Given the description of an element on the screen output the (x, y) to click on. 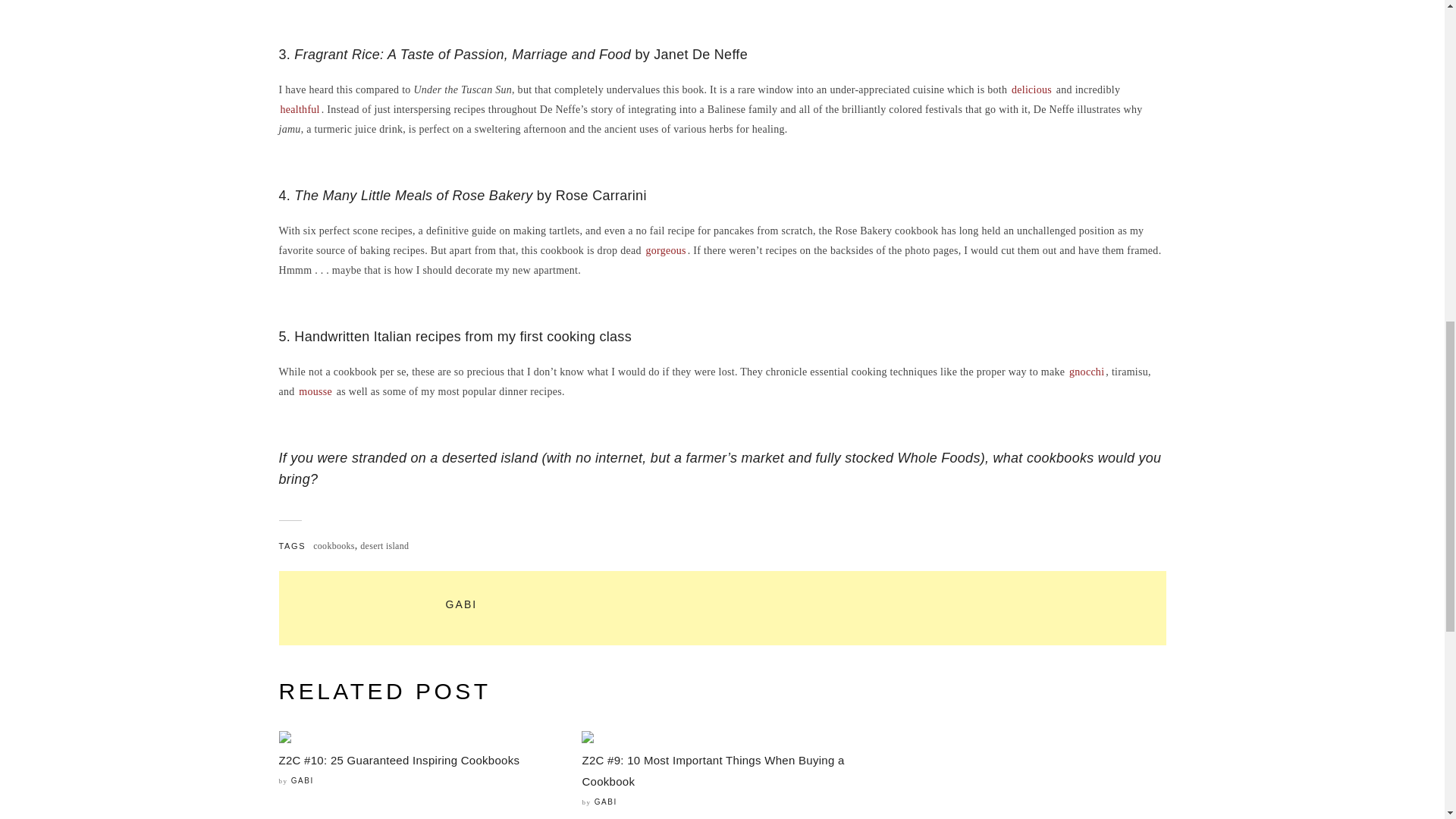
Posts by Gabi (461, 604)
Posts by Gabi (302, 780)
Posts by Gabi (605, 801)
